Given the description of an element on the screen output the (x, y) to click on. 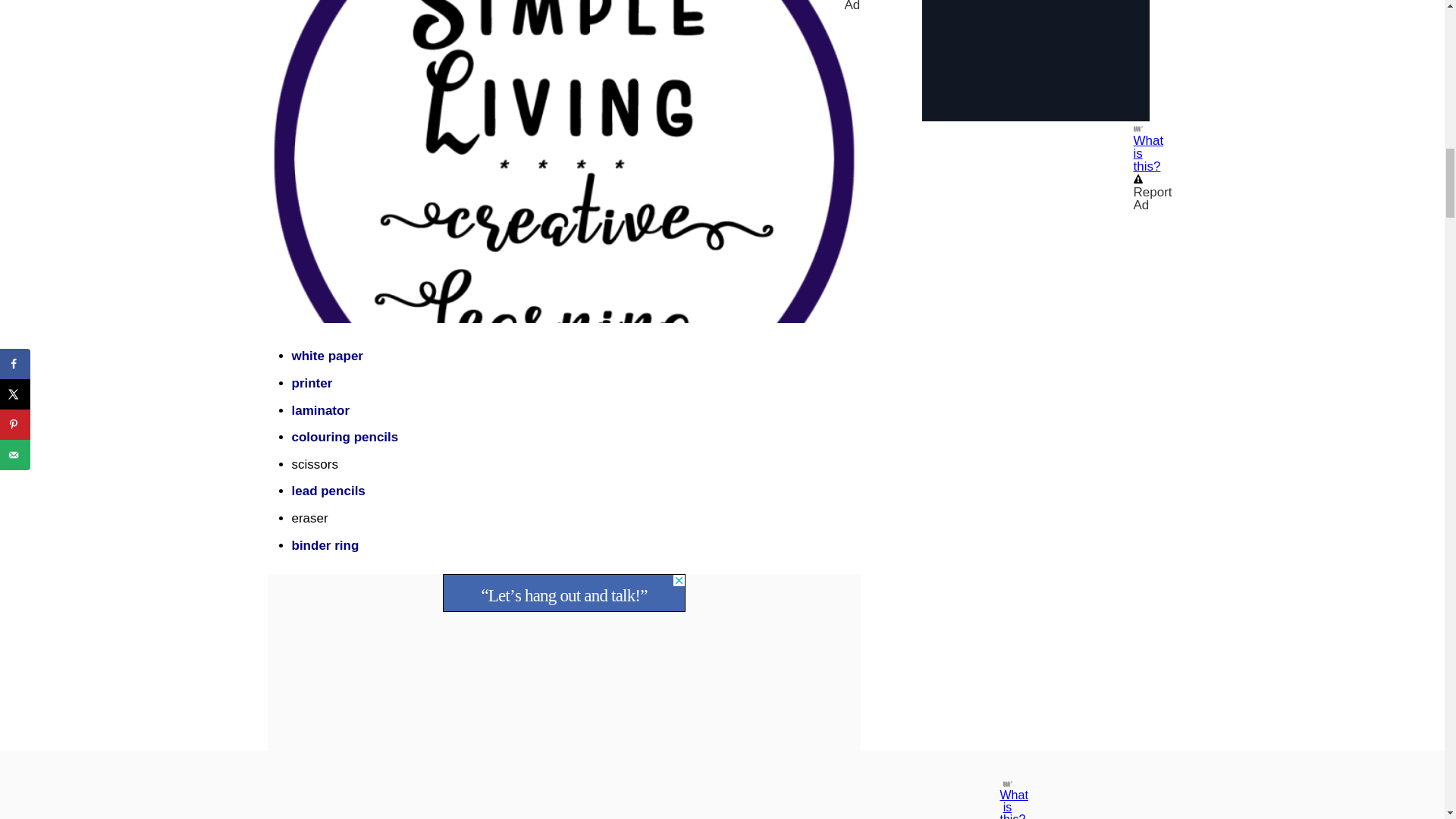
3rd party ad content (563, 592)
laminator (320, 410)
white paper (326, 355)
3rd party ad content (1035, 60)
printer (311, 382)
